Given the description of an element on the screen output the (x, y) to click on. 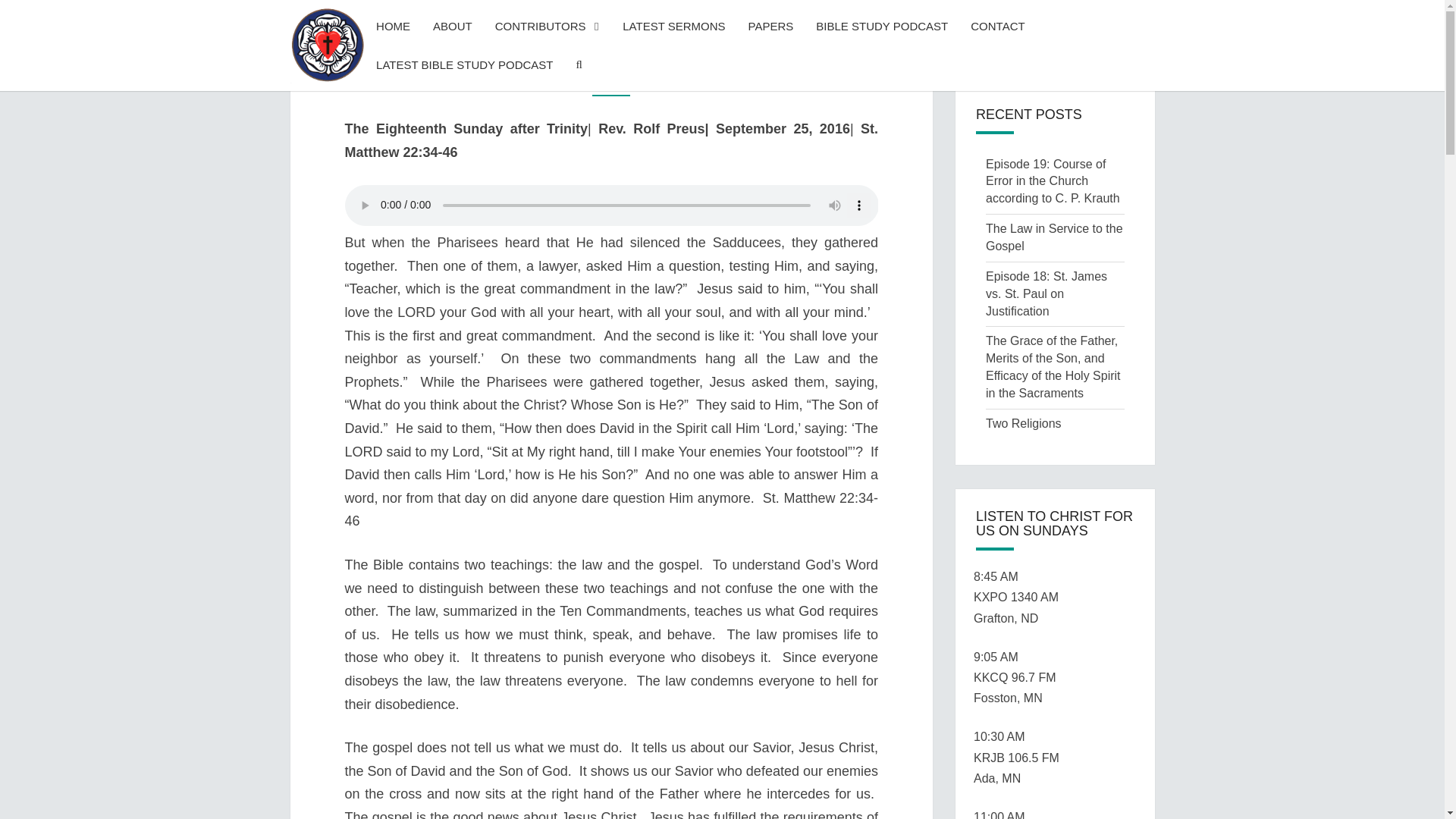
4:49 PM (579, 78)
HOME (393, 25)
LATEST BIBLE STUDY PODCAST (464, 64)
PAPERS (770, 25)
View all posts by Rolf Preus (684, 78)
BIBLE STUDY PODCAST (882, 25)
ABOUT (452, 25)
CONTRIBUTORS (547, 25)
Rolf Preus (684, 78)
